Given the description of an element on the screen output the (x, y) to click on. 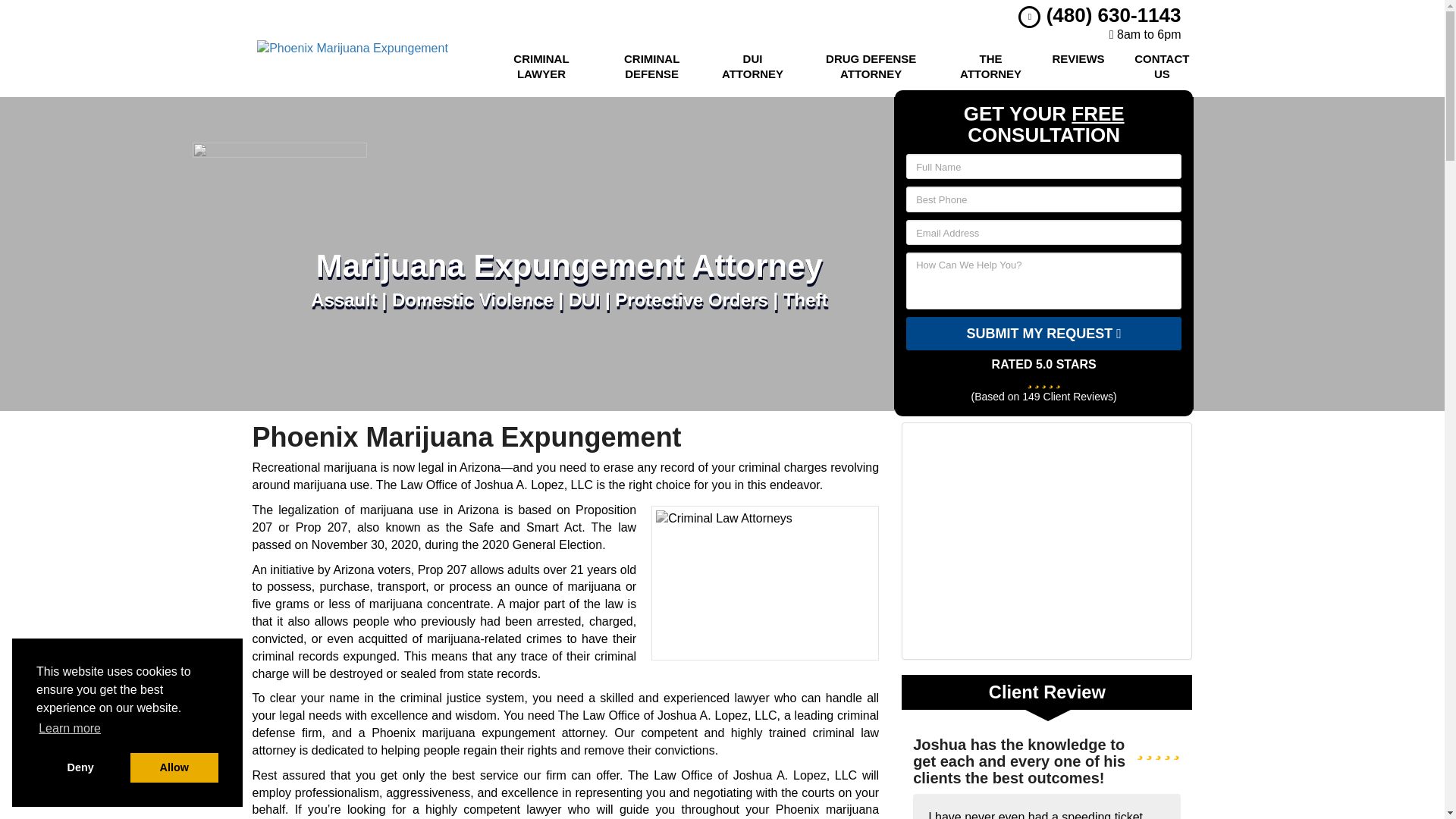
Learn more (69, 728)
DUI Attorney (751, 66)
Allow (174, 767)
Deny (79, 767)
Drug Defense Attorney (870, 66)
Criminal Lawyer (540, 66)
Criminal Defense (651, 66)
CRIMINAL LAWYER (540, 66)
CRIMINAL DEFENSE (651, 66)
DUI ATTORNEY (751, 66)
Reviews (1077, 66)
The Attorney (990, 66)
THE ATTORNEY (990, 66)
Contact Us (1161, 66)
CONTACT US (1161, 66)
